Given the description of an element on the screen output the (x, y) to click on. 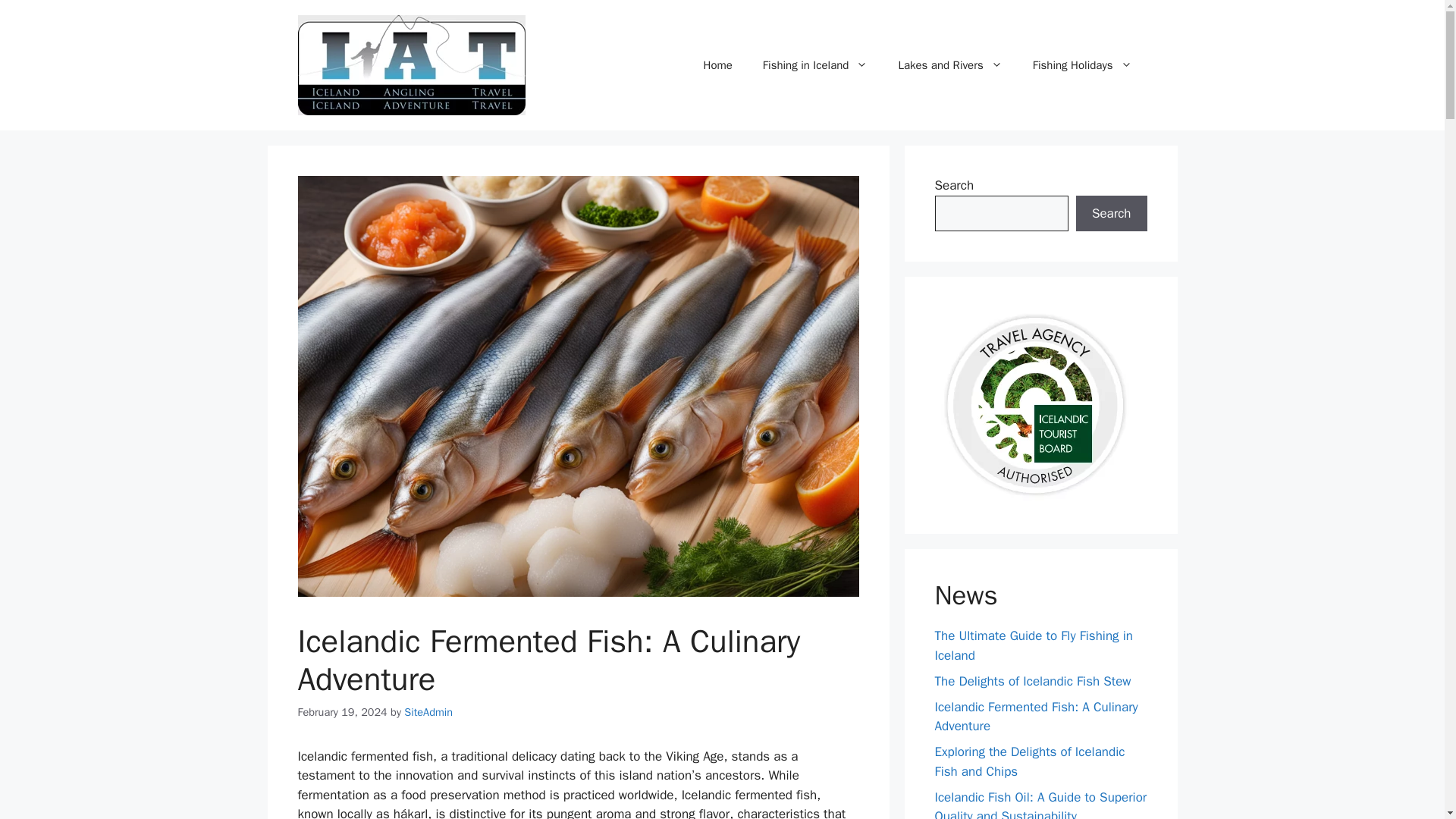
Fishing in Iceland (815, 64)
Lakes and Rivers (949, 64)
SiteAdmin (428, 712)
View all posts by SiteAdmin (428, 712)
Fishing Holidays (1082, 64)
Home (718, 64)
